Given the description of an element on the screen output the (x, y) to click on. 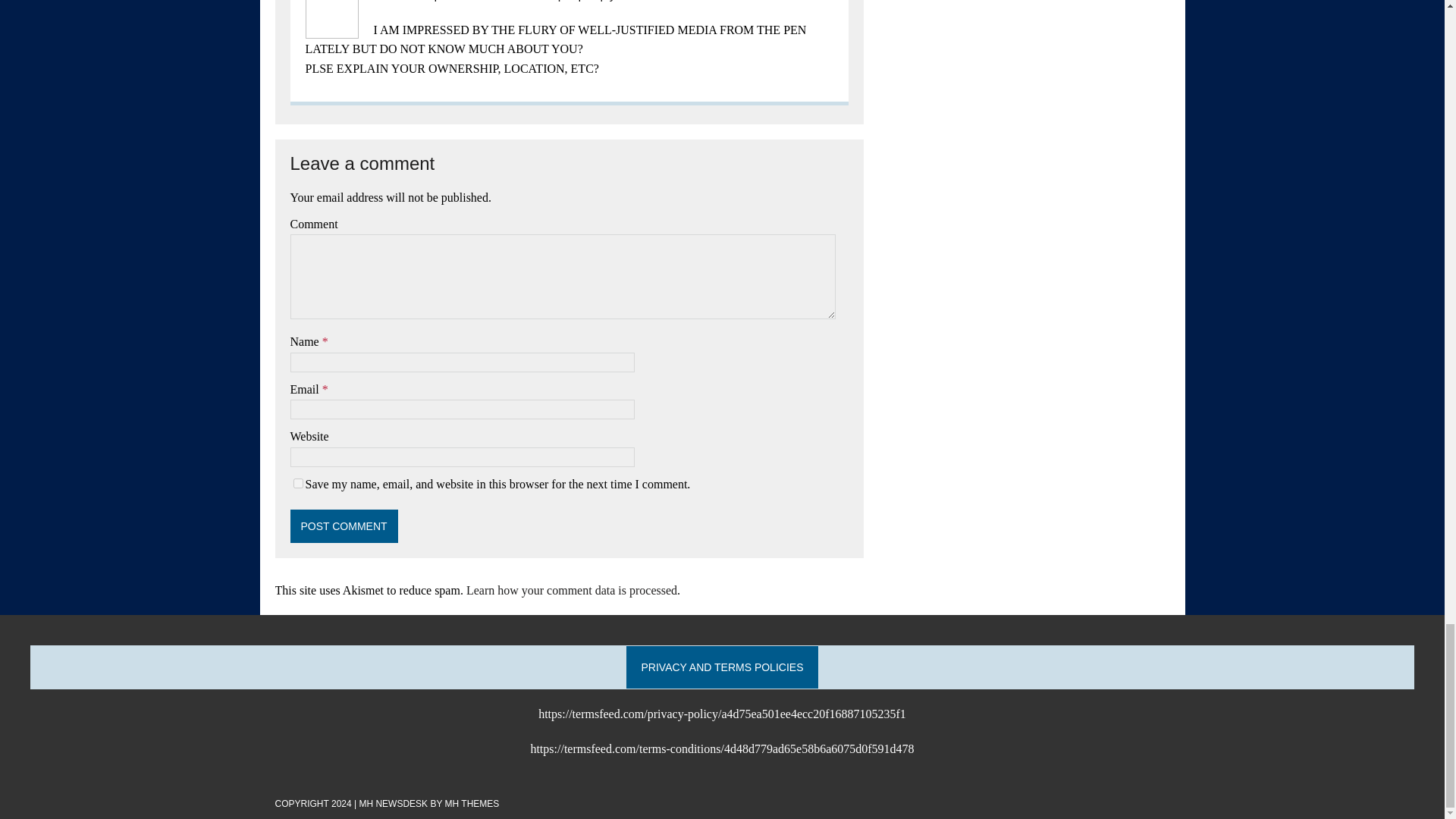
Keith Vass (400, 0)
Reply (600, 0)
Learn how your comment data is processed (571, 590)
Post Comment (343, 525)
Post Comment (343, 525)
13 June 2023 at 2:35 pm (508, 0)
yes (297, 483)
